Given the description of an element on the screen output the (x, y) to click on. 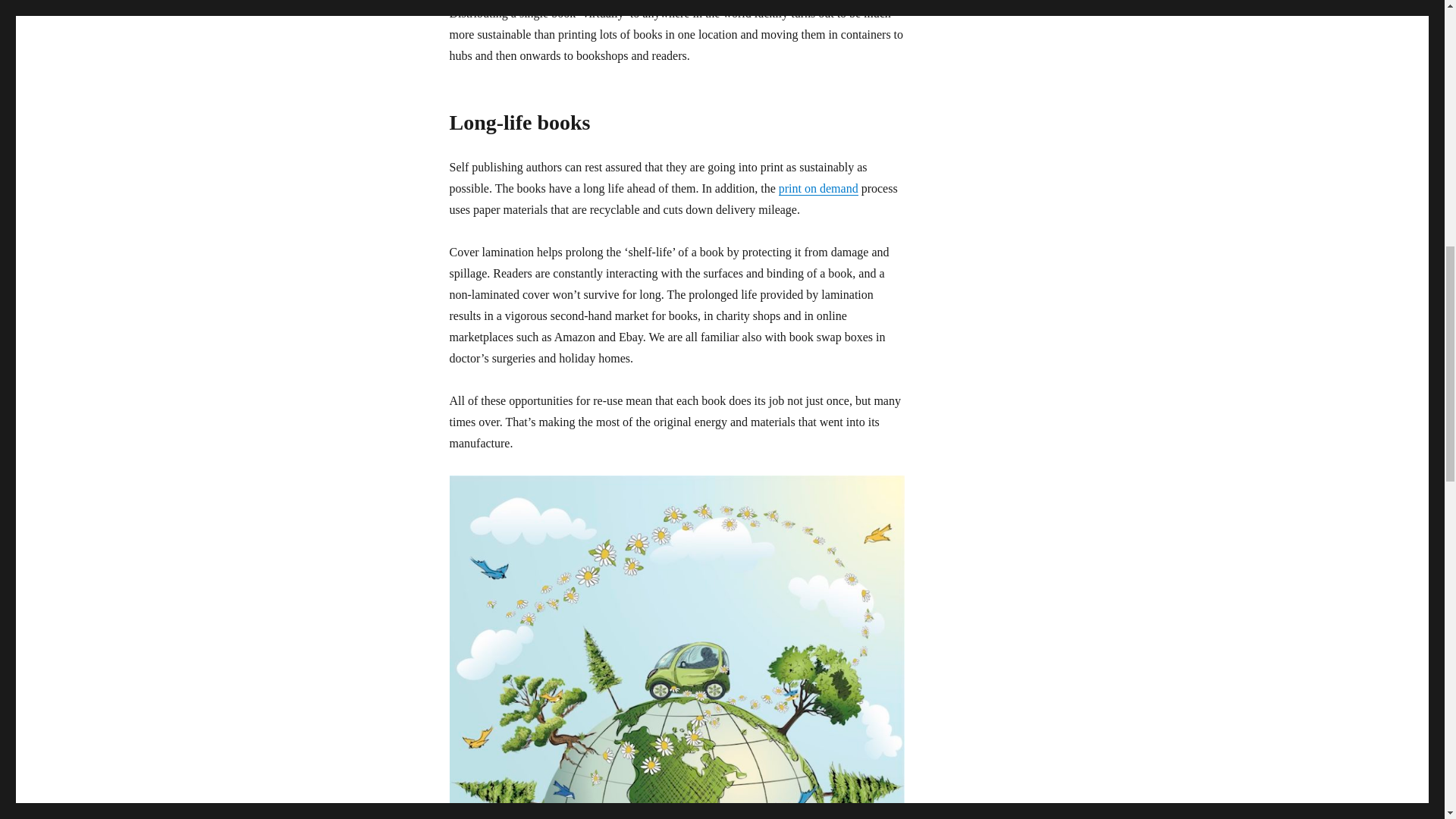
print on demand (818, 187)
